Given the description of an element on the screen output the (x, y) to click on. 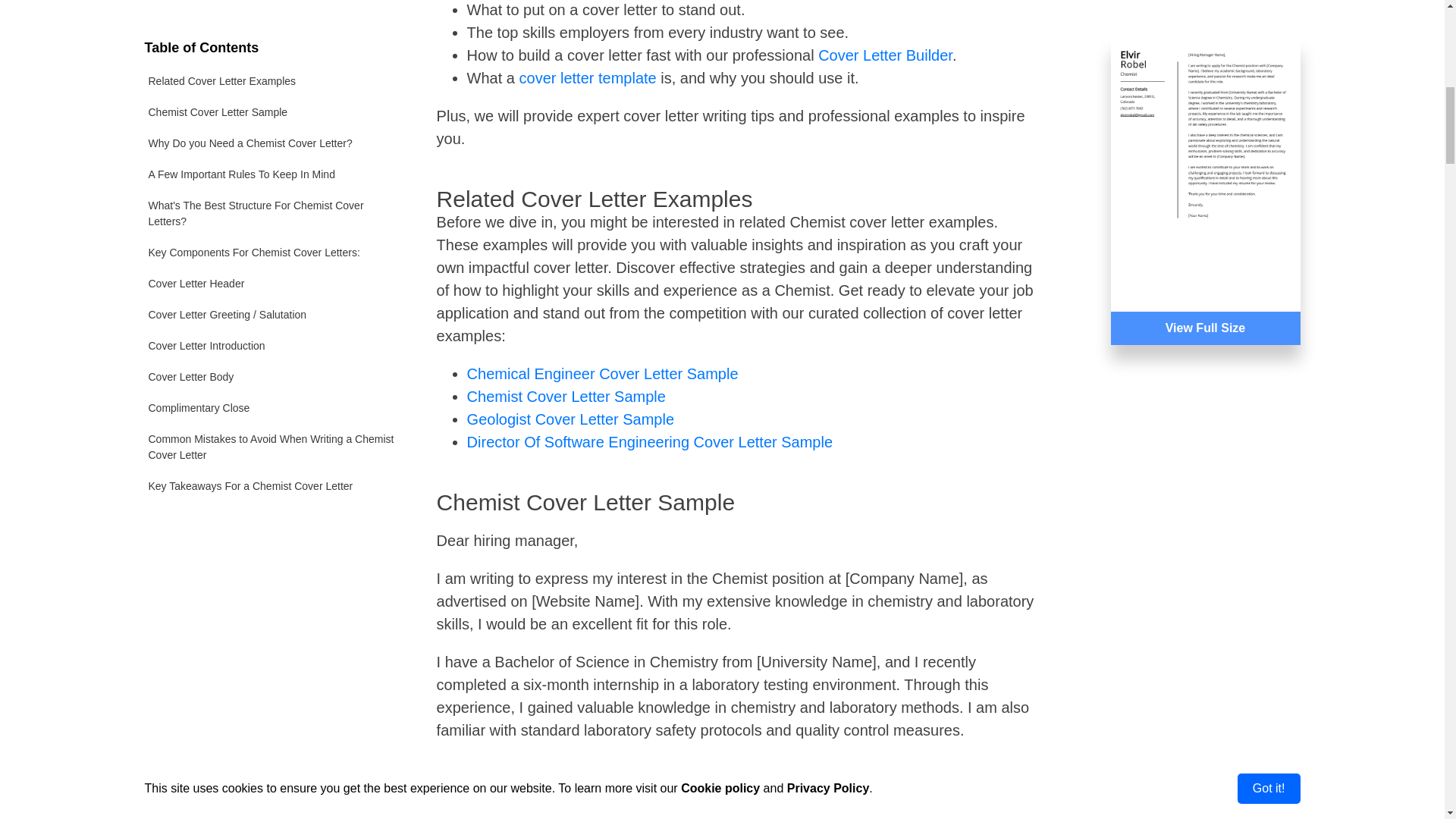
What's The Best Structure For Chemist Cover Letters? (270, 4)
cover letter template (587, 77)
Cover Letter Builder (885, 54)
Complimentary Close (270, 178)
Key Components For Chemist Cover Letters: (270, 23)
Director Of Software Engineering Cover Letter Sample (649, 442)
Chemist Cover Letter Sample (566, 396)
Cover Letter Introduction (270, 116)
Key Takeaways For a Chemist Cover Letter (270, 256)
Common Mistakes to Avoid When Writing a Chemist Cover Letter (270, 217)
Cover Letter Body (270, 147)
Chemical Engineer Cover Letter Sample (602, 373)
Cover Letter Header (270, 54)
Geologist Cover Letter Sample (570, 419)
